Given the description of an element on the screen output the (x, y) to click on. 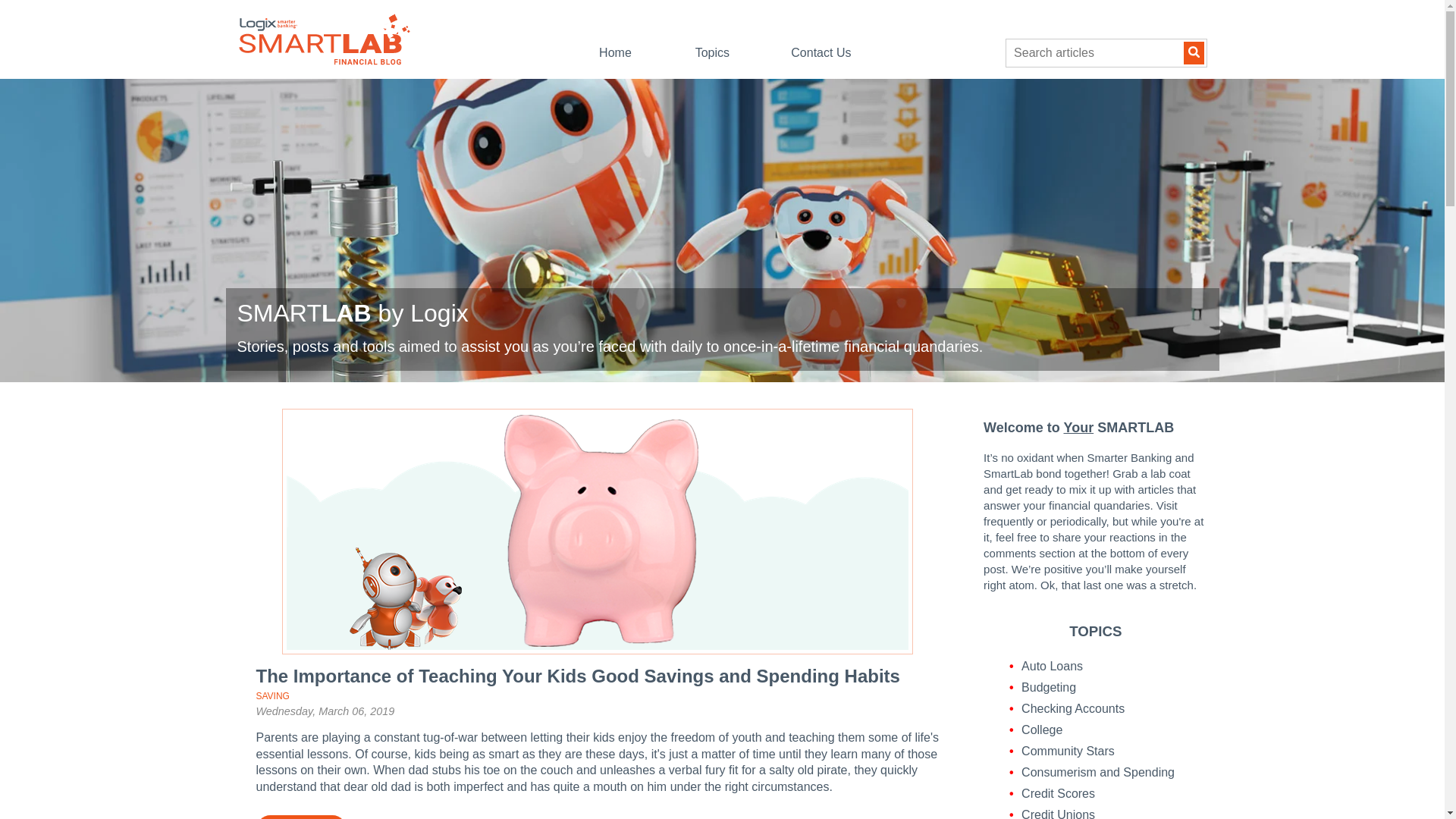
Home (614, 51)
Contact Us (820, 51)
